Given the description of an element on the screen output the (x, y) to click on. 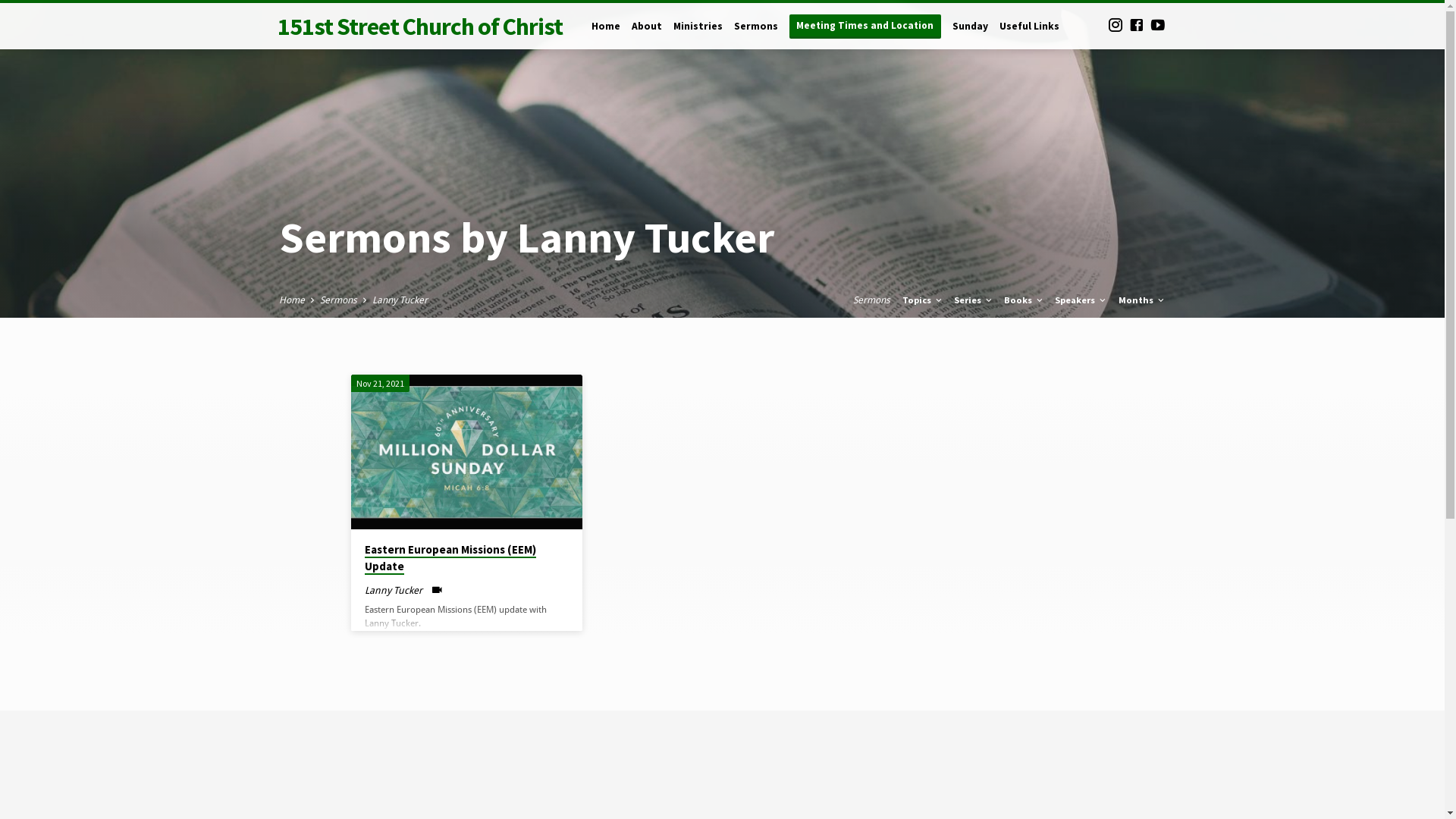
Watch Video Element type: hover (436, 590)
Sermons Element type: text (338, 299)
YouTube Element type: hover (1157, 24)
Eastern European Missions (EEM) Update Element type: hover (465, 451)
Useful Links Element type: text (1029, 35)
Sermons Element type: text (871, 299)
Facebook Element type: hover (1136, 24)
Books Element type: text (1024, 299)
Speakers Element type: text (1080, 299)
Topics Element type: text (923, 299)
Series Element type: text (973, 299)
Meeting Times and Location Element type: text (864, 25)
Sermons Element type: text (756, 35)
Lanny Tucker Element type: text (398, 299)
Home Element type: text (291, 299)
Eastern European Missions (EEM) Update Element type: text (449, 558)
Months Element type: text (1141, 299)
About Element type: text (645, 35)
151st Street Church of Christ Element type: text (419, 25)
Instagram Element type: hover (1115, 24)
Sunday Element type: text (970, 35)
Home Element type: text (605, 35)
Ministries Element type: text (697, 35)
Lanny Tucker Element type: text (392, 590)
